Given the description of an element on the screen output the (x, y) to click on. 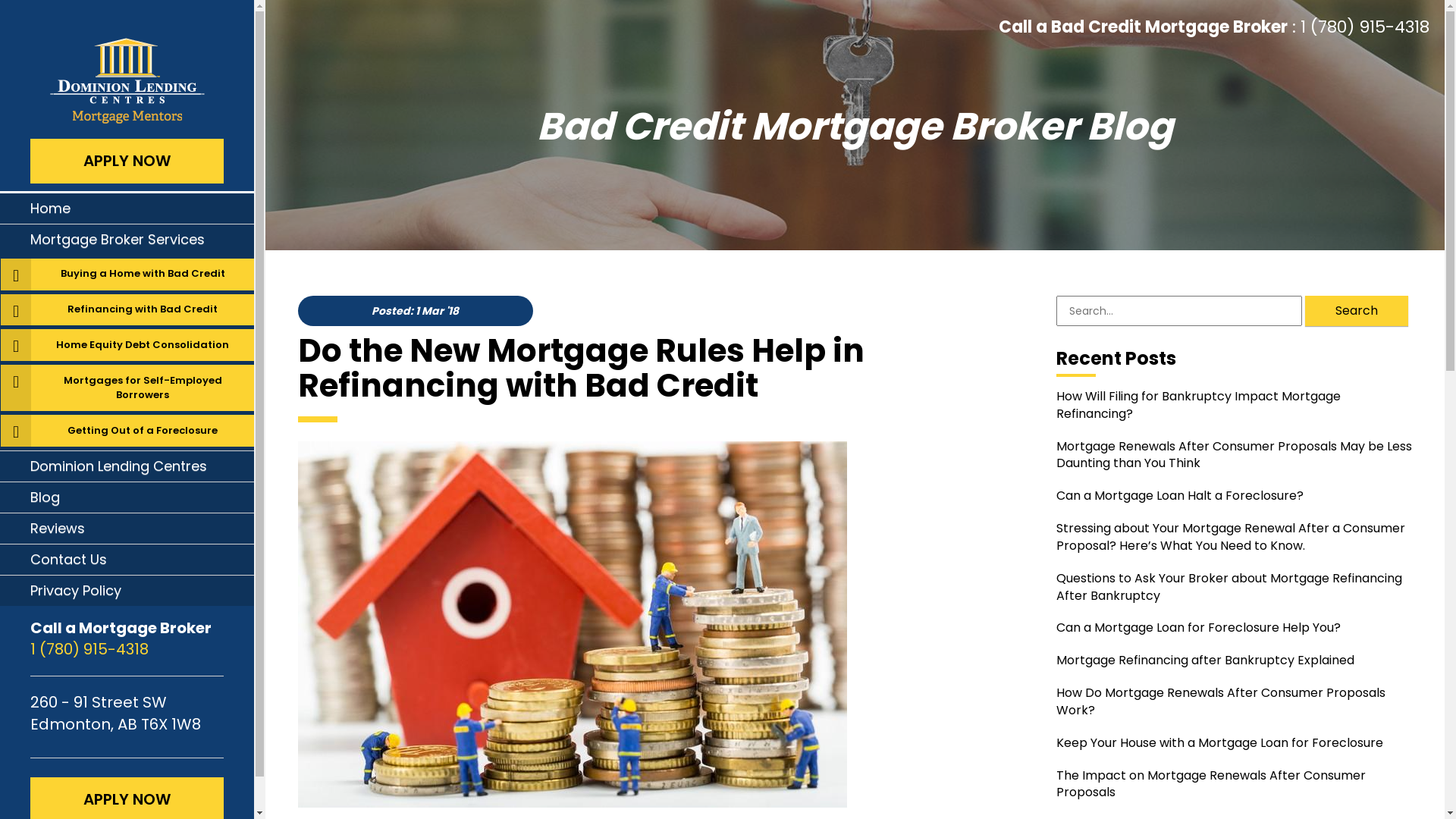
The Impact on Mortgage Renewals After Consumer Proposals Element type: text (1233, 784)
Home Element type: text (127, 208)
Home Equity Debt Consolidation Element type: text (142, 344)
Contact Us Element type: text (127, 559)
Blog Element type: text (127, 497)
APPLY NOW Element type: text (126, 160)
Reviews Element type: text (127, 528)
Dominion Lending Centres Element type: text (127, 466)
Mortgages for Self-Employed Borrowers Element type: text (142, 387)
Mortgage Refinancing after Bankruptcy Explained Element type: text (1233, 660)
Mortgage Broker Services Element type: text (127, 239)
How Do Mortgage Renewals After Consumer Proposals Work? Element type: text (1233, 701)
Keep Your House with a Mortgage Loan for Foreclosure Element type: text (1233, 743)
Can a Mortgage Loan Halt a Foreclosure? Element type: text (1233, 495)
Refinancing with Bad Credit Element type: text (142, 310)
Search Element type: text (1356, 310)
1 (780) 915-4318 Element type: text (126, 649)
How Will Filing for Bankruptcy Impact Mortgage Refinancing? Element type: text (1233, 405)
Buying a Home with Bad Credit Element type: text (142, 274)
Can a Mortgage Loan for Foreclosure Help You? Element type: text (1233, 627)
1 (780) 915-4318 Element type: text (1364, 26)
Privacy Policy Element type: text (127, 590)
Getting Out of a Foreclosure Element type: text (142, 430)
